Given the description of an element on the screen output the (x, y) to click on. 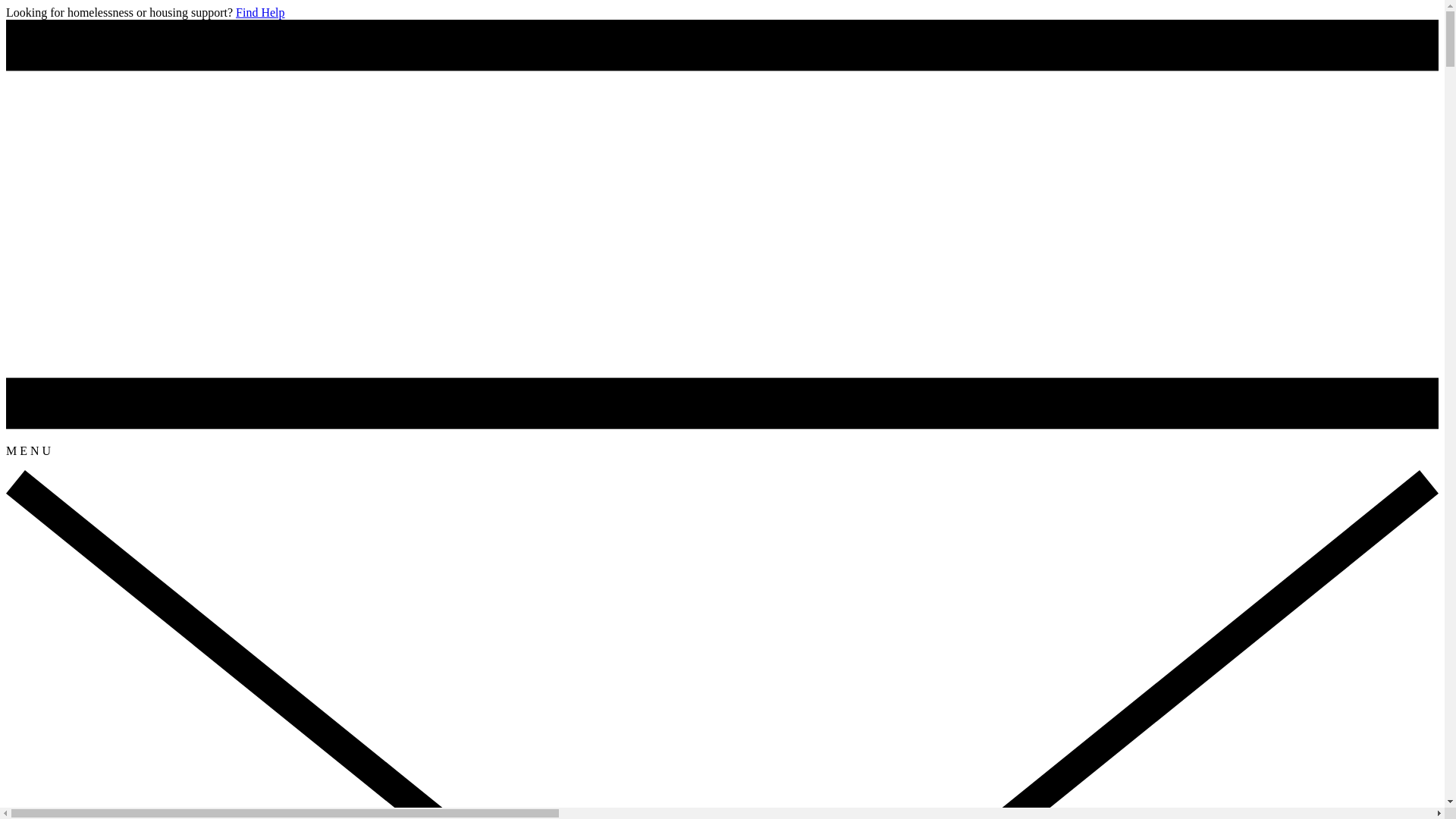
Find Help Element type: text (259, 12)
